Given the description of an element on the screen output the (x, y) to click on. 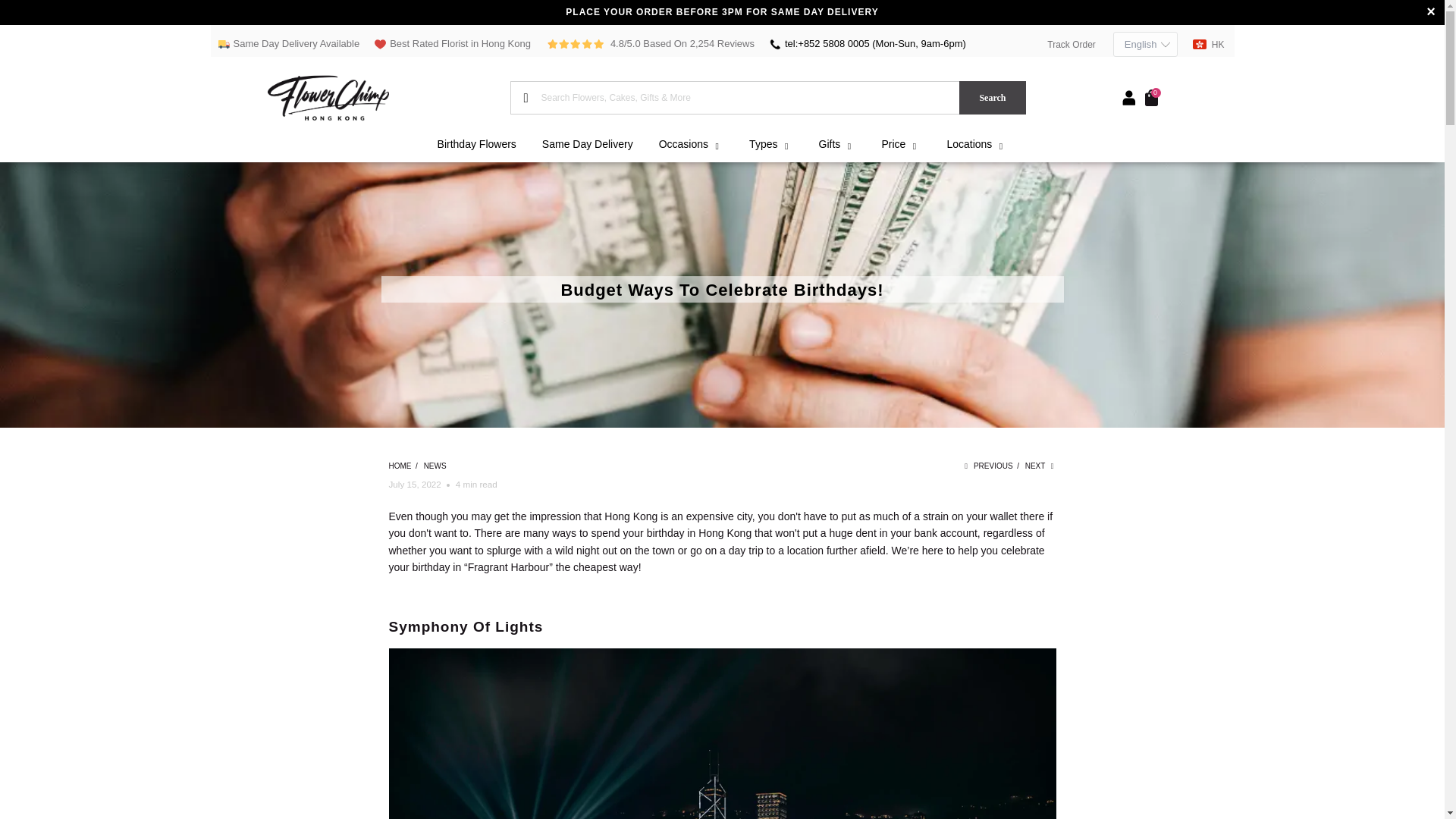
Flower Chimp Hong Kong (399, 465)
News (434, 465)
Flower Chimp Hong Kong (387, 97)
